Given the description of an element on the screen output the (x, y) to click on. 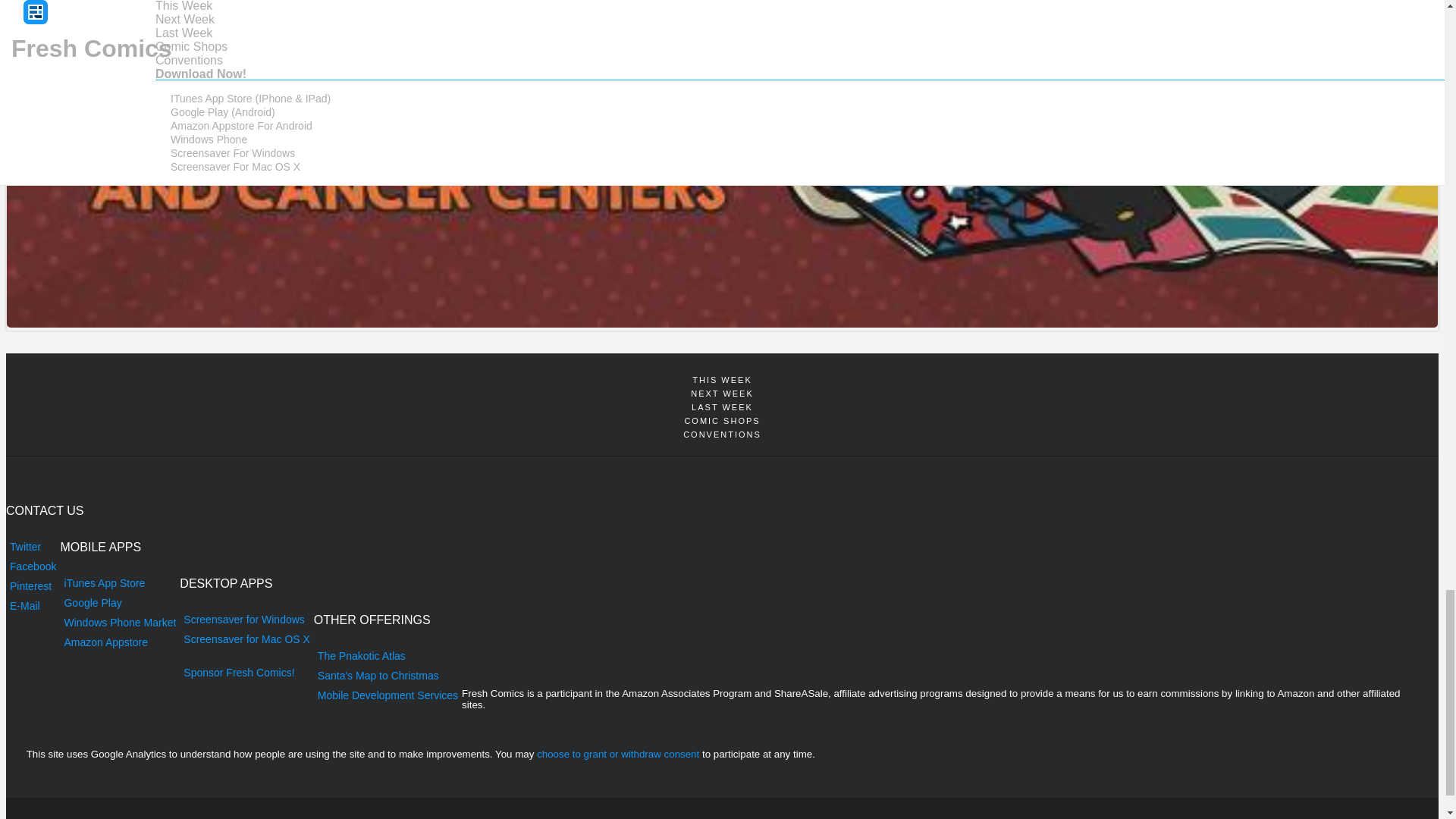
COMIC SHOPS (722, 420)
Google Play (119, 602)
CONVENTIONS (721, 434)
THIS WEEK (722, 379)
Pinterest (32, 586)
Amazon Appstore (119, 641)
Twitter (32, 546)
Screensaver for Mac OS X (246, 639)
LAST WEEK (722, 406)
Facebook (32, 566)
